Given the description of an element on the screen output the (x, y) to click on. 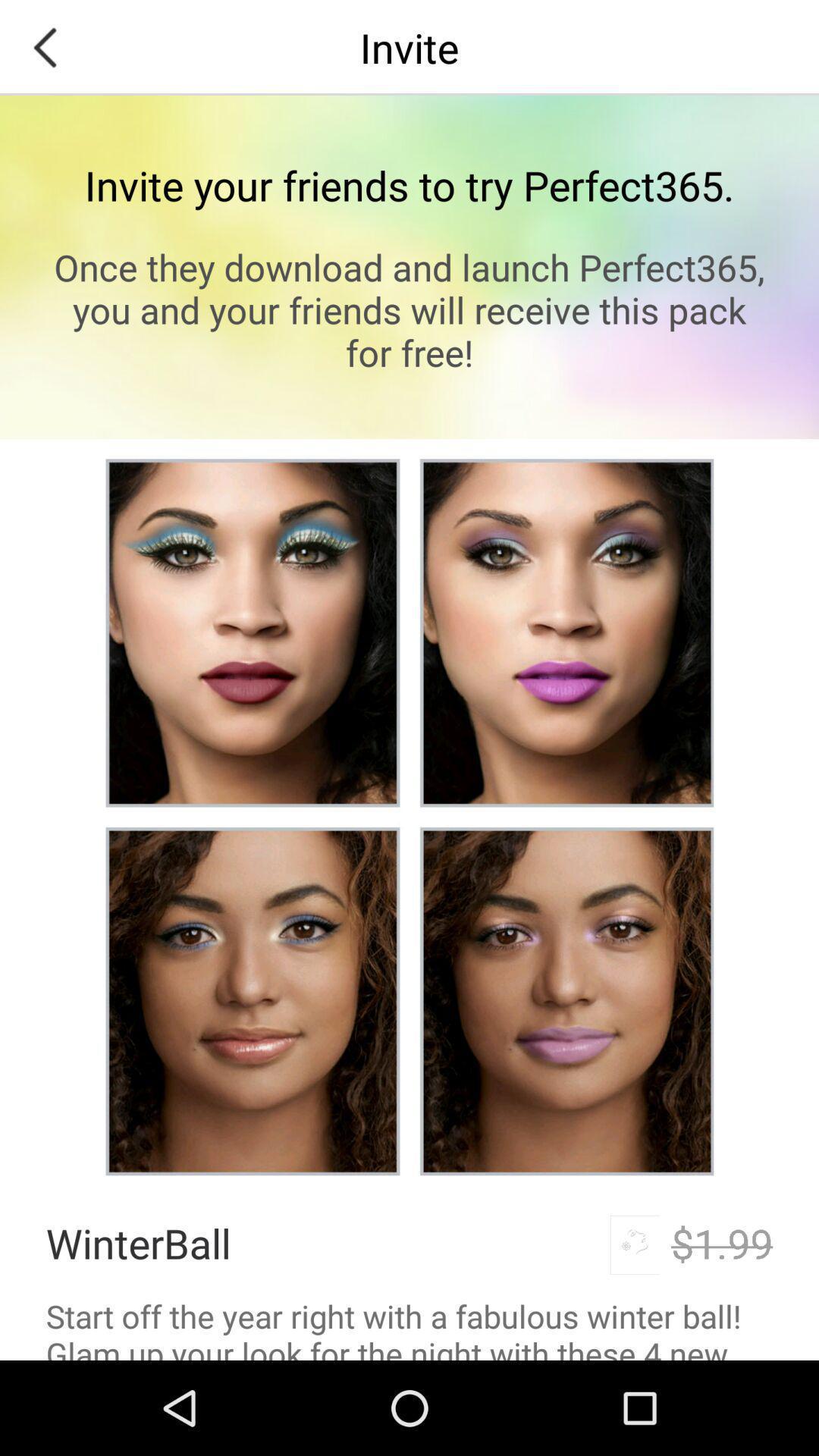
tap icon above start off the item (138, 1242)
